Given the description of an element on the screen output the (x, y) to click on. 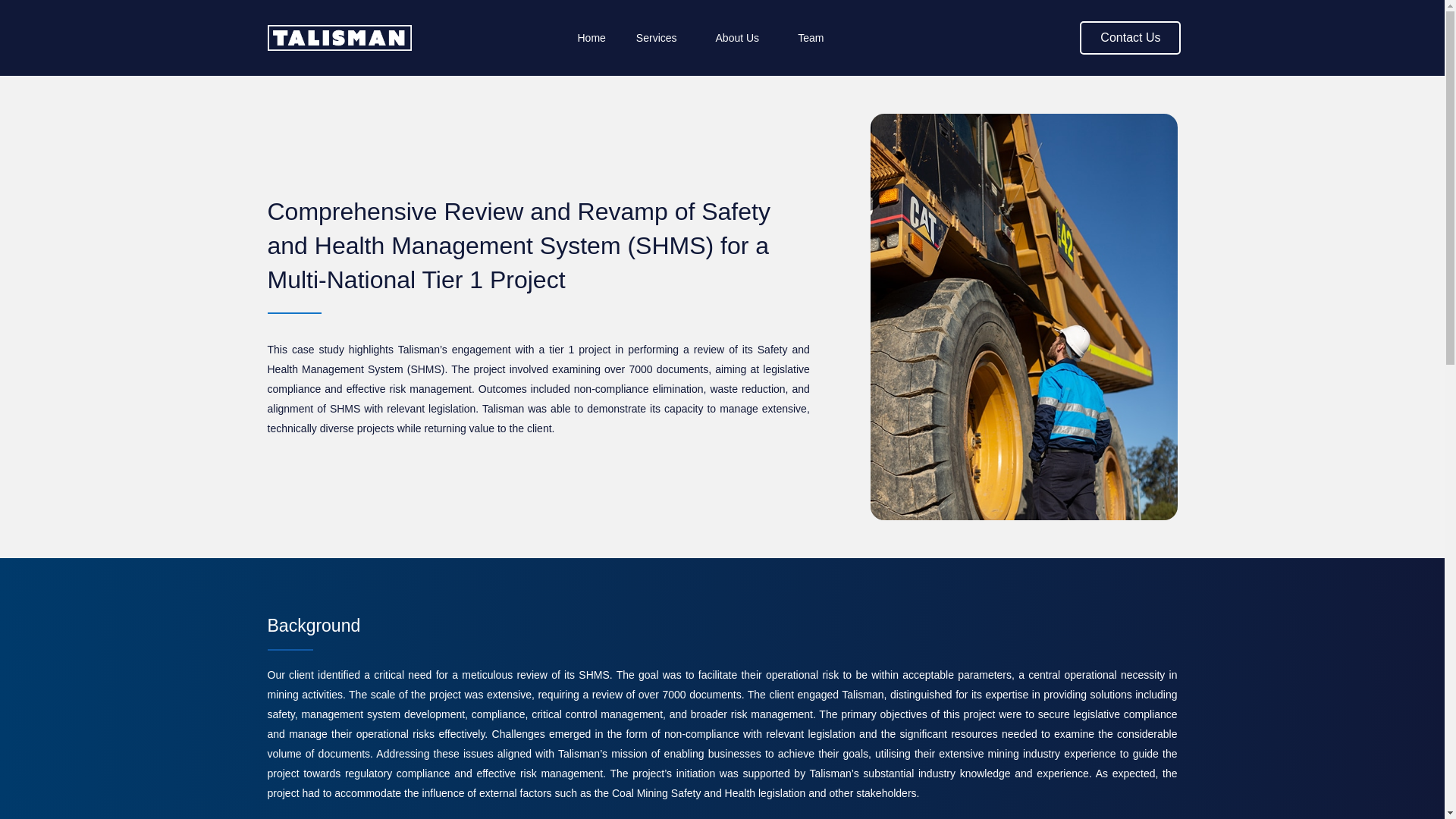
Team (810, 37)
Services (660, 37)
Contact Us (1130, 37)
About Us (741, 37)
Home (591, 37)
Services (660, 37)
Services (741, 37)
